Given the description of an element on the screen output the (x, y) to click on. 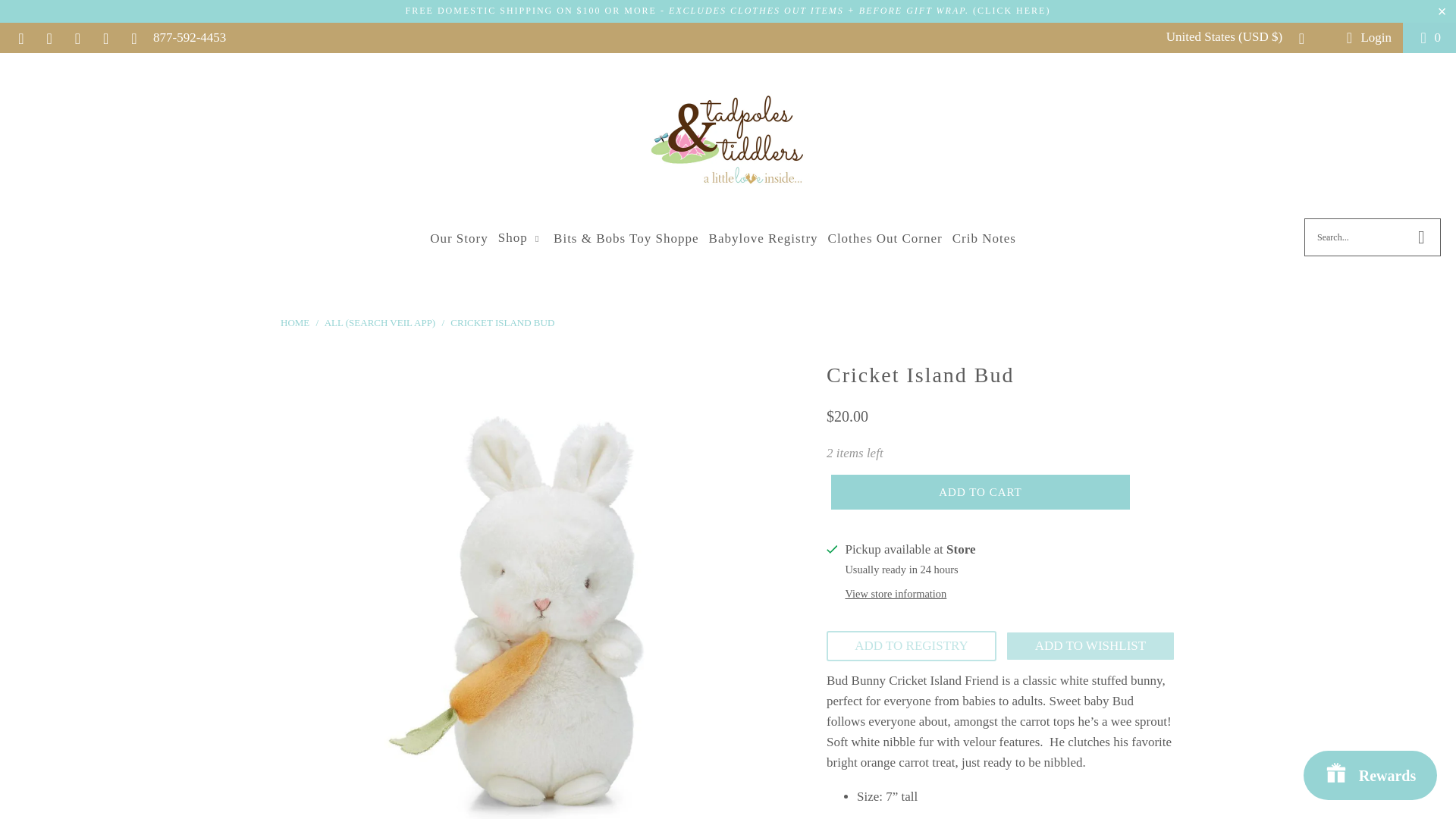
Tadpoles and Tiddlers on Vimeo (132, 37)
Tadpoles and Tiddlers on Instagram (76, 37)
Tadpoles and Tiddlers on Facebook (47, 37)
Email Tadpoles and Tiddlers (20, 37)
Tadpoles and Tiddlers (728, 139)
My Account  (1365, 37)
Tadpoles and Tiddlers (297, 322)
Tadpoles and Tiddlers on Pinterest (104, 37)
